Given the description of an element on the screen output the (x, y) to click on. 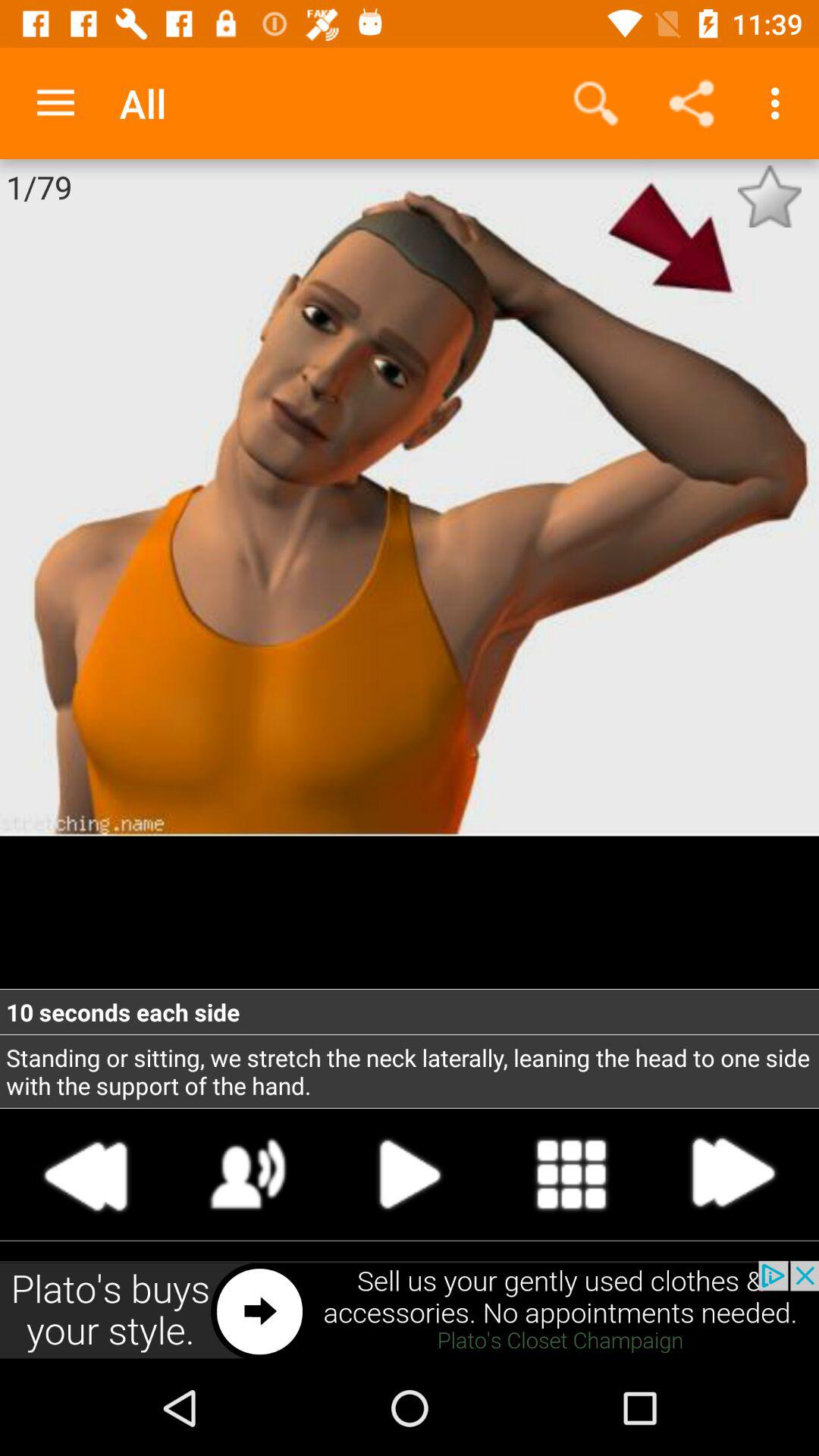
speacker (248, 1174)
